Given the description of an element on the screen output the (x, y) to click on. 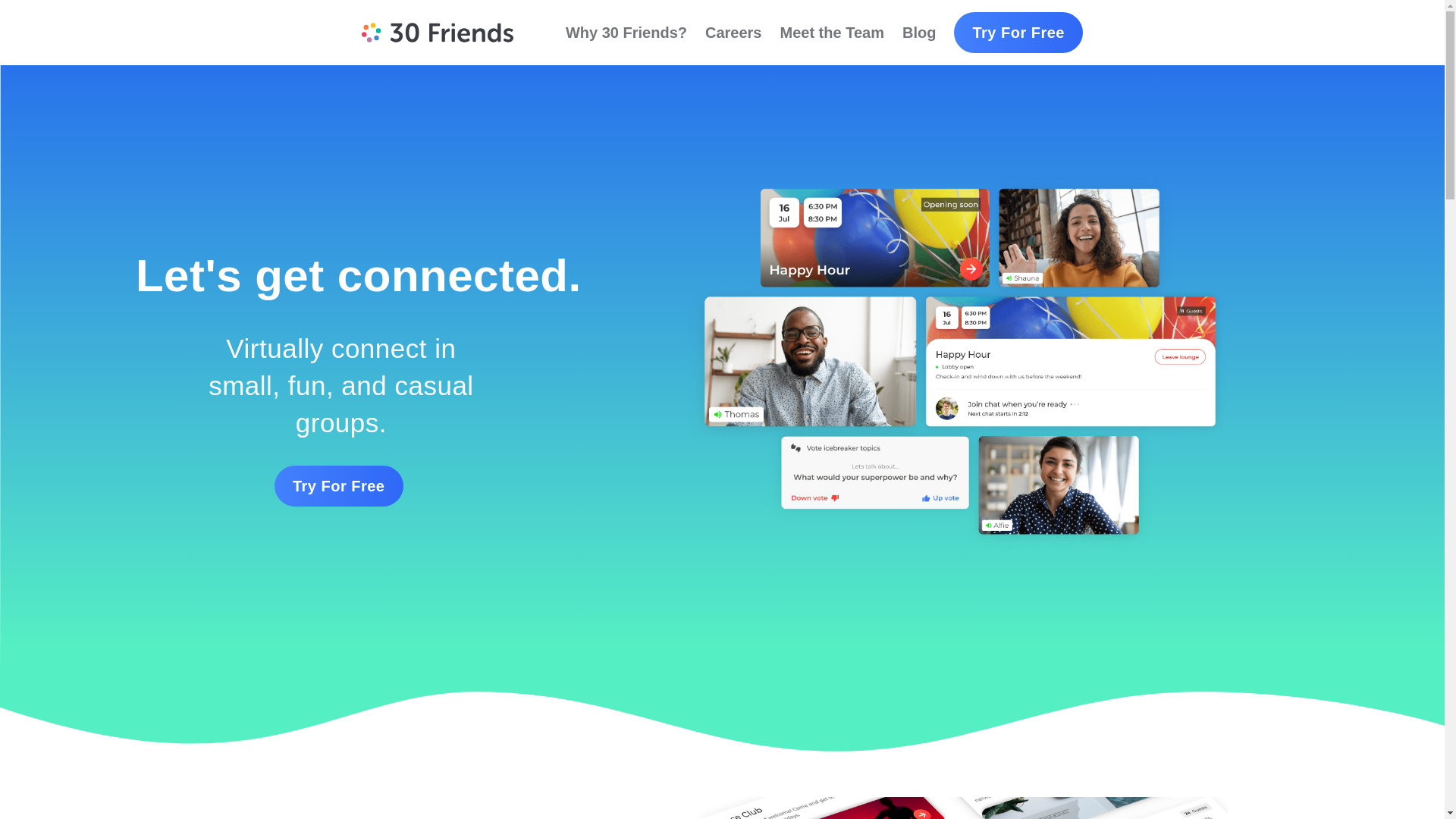
Blog Element type: text (918, 32)
Try For Free Element type: text (1017, 32)
Why 30 Friends? Element type: text (626, 32)
Try For Free Element type: text (338, 485)
Meet the Team Element type: text (831, 32)
Careers Element type: text (733, 32)
